Given the description of an element on the screen output the (x, y) to click on. 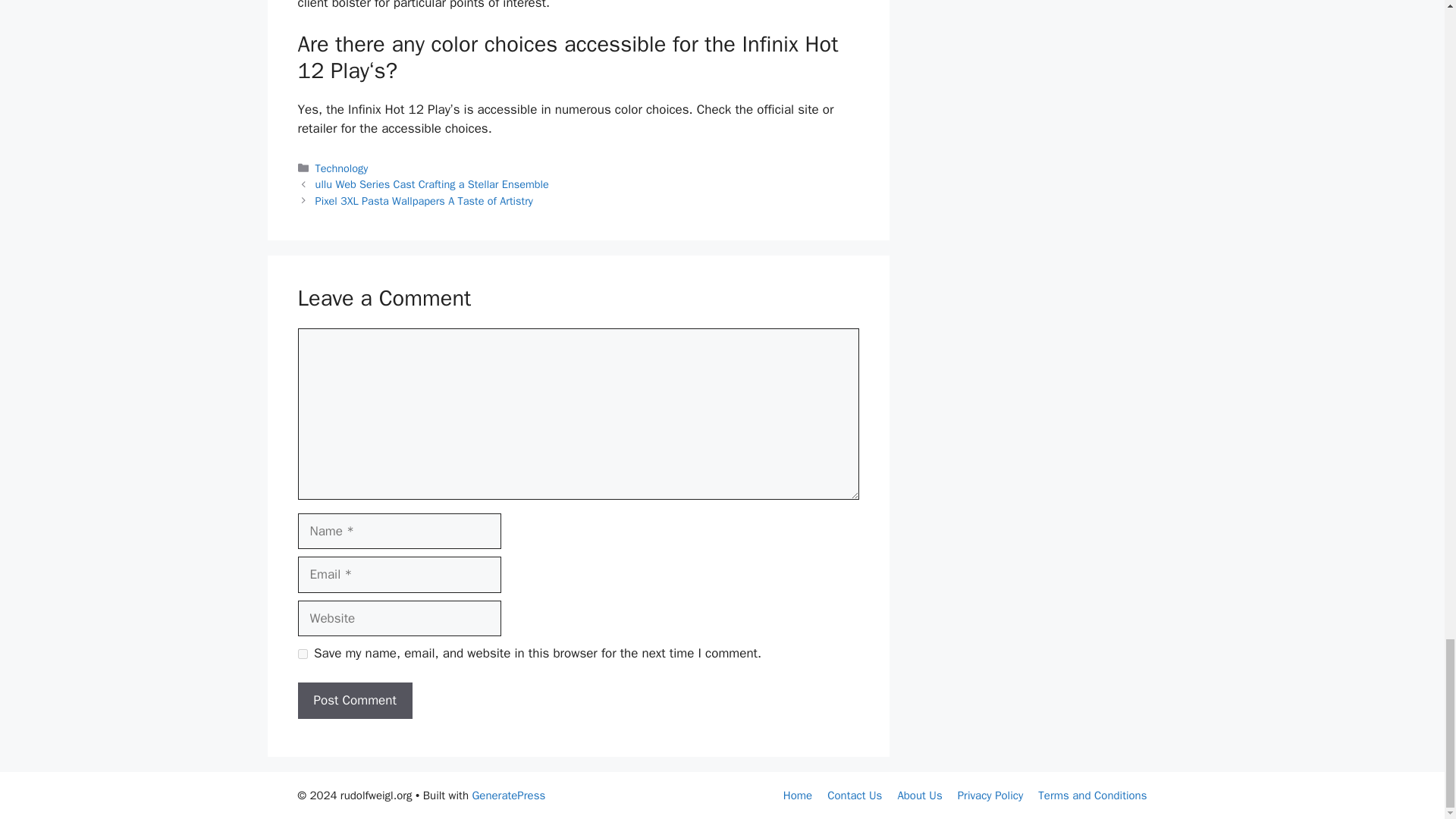
Post Comment (354, 700)
yes (302, 654)
Technology (341, 168)
ullu Web Series Cast Crafting a Stellar Ensemble (431, 183)
Post Comment (354, 700)
Pixel 3XL Pasta Wallpapers A Taste of Artistry (423, 201)
